Given the description of an element on the screen output the (x, y) to click on. 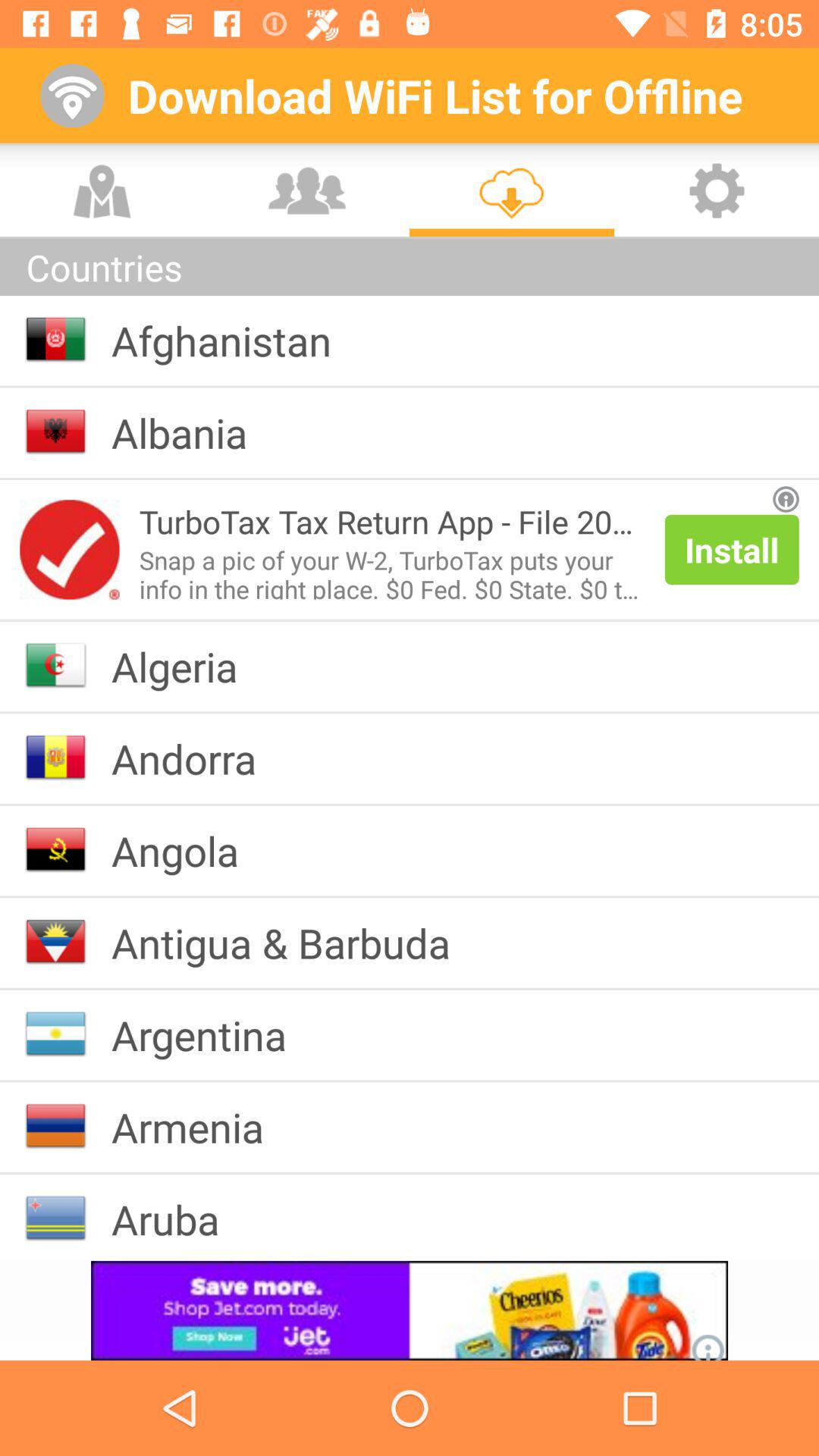
launch andorra item (195, 758)
